Given the description of an element on the screen output the (x, y) to click on. 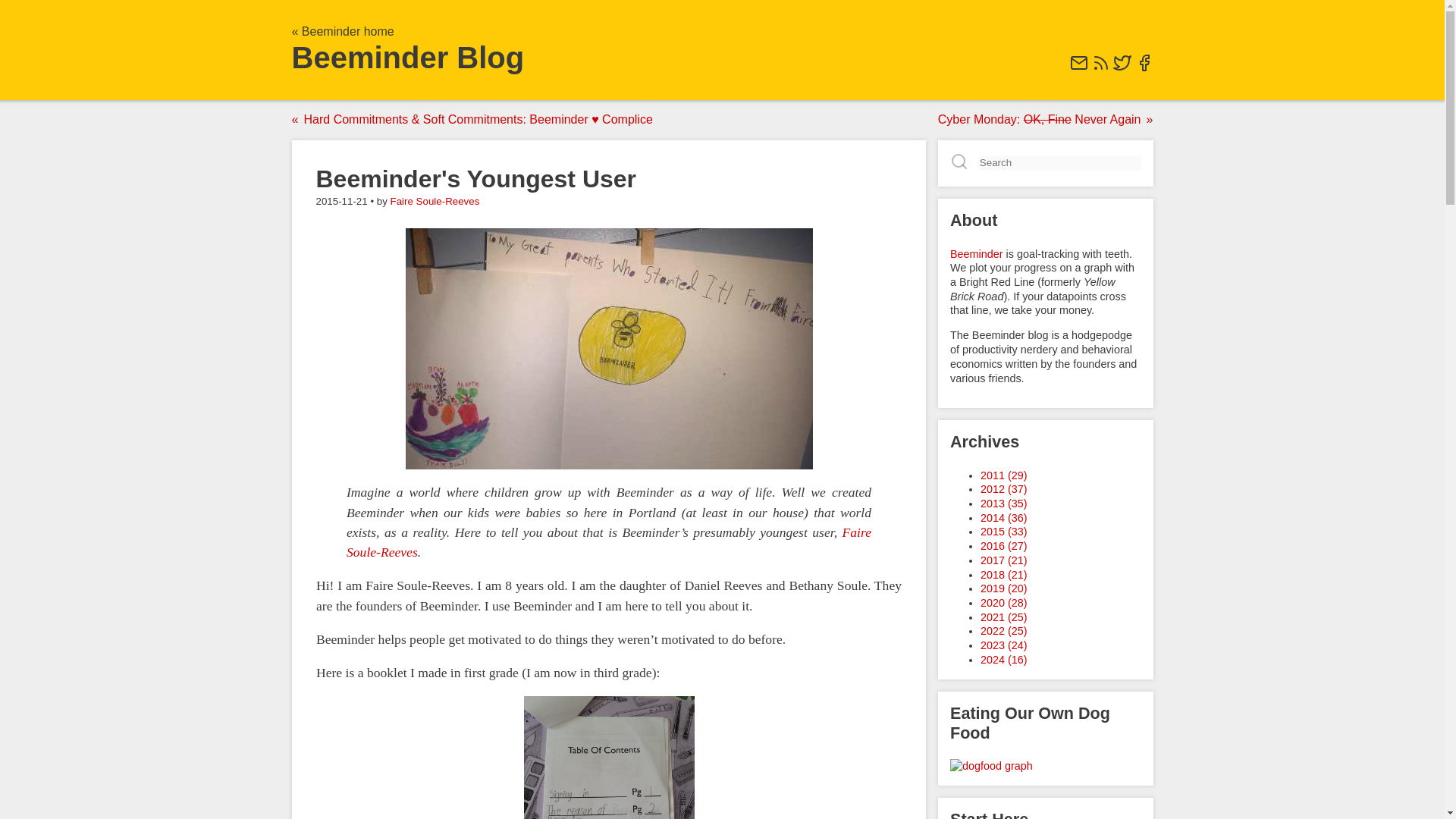
Faire's homepage, that she made at Indie Web Camp! (608, 541)
Email Notifications (1078, 67)
Follow us on Facebook (1143, 67)
Cyber Monday: OK, Fine Never Again (1042, 119)
Beeminder Blog (407, 57)
We swear we don't put her up to this stuff (608, 348)
Follow us on Twitter (1122, 67)
Faire Soule-Reeves (608, 541)
Faire Soule-Reeves (435, 201)
Beeminder (976, 253)
